Given the description of an element on the screen output the (x, y) to click on. 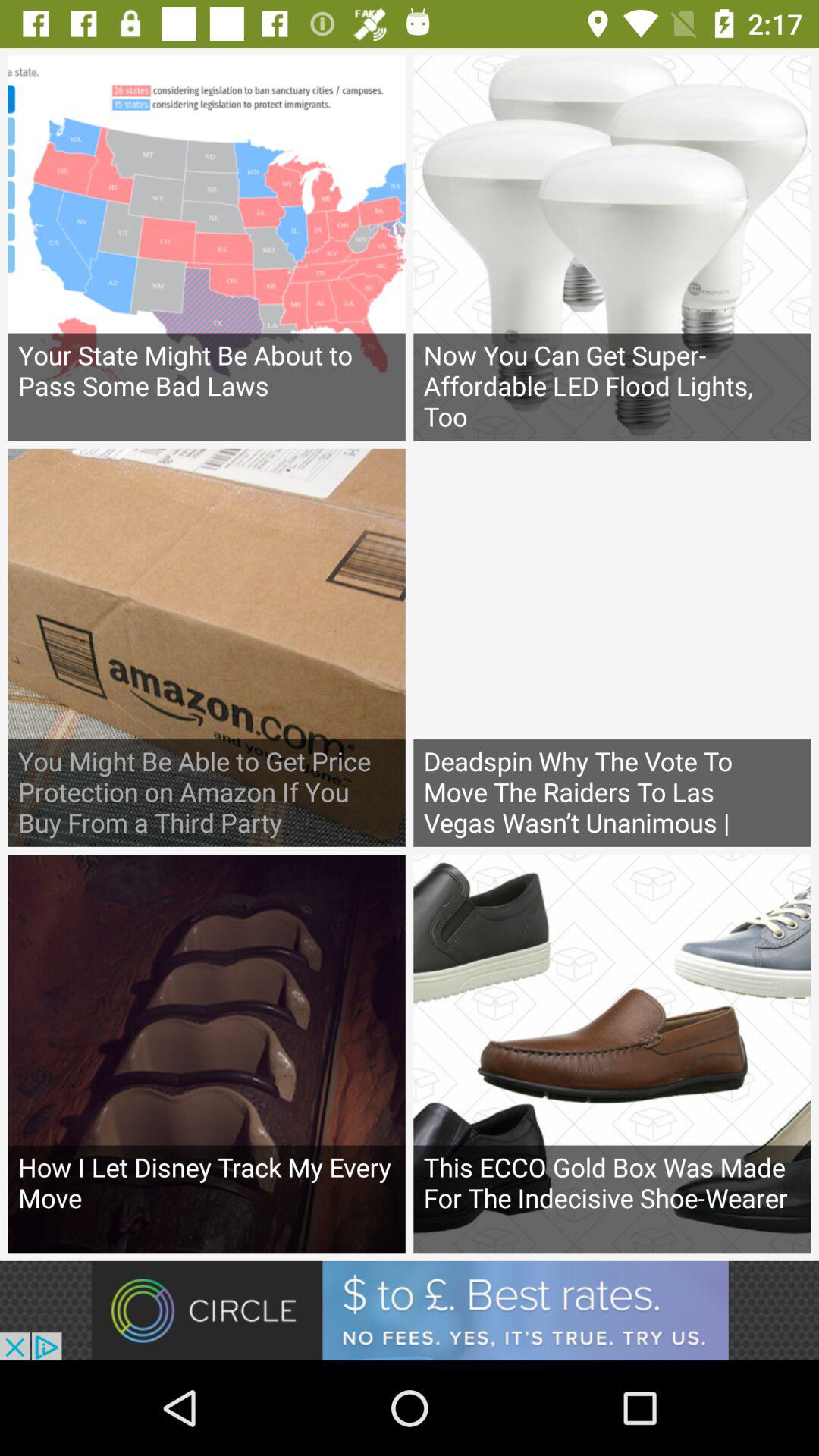
advertisement for circle (409, 1310)
